Given the description of an element on the screen output the (x, y) to click on. 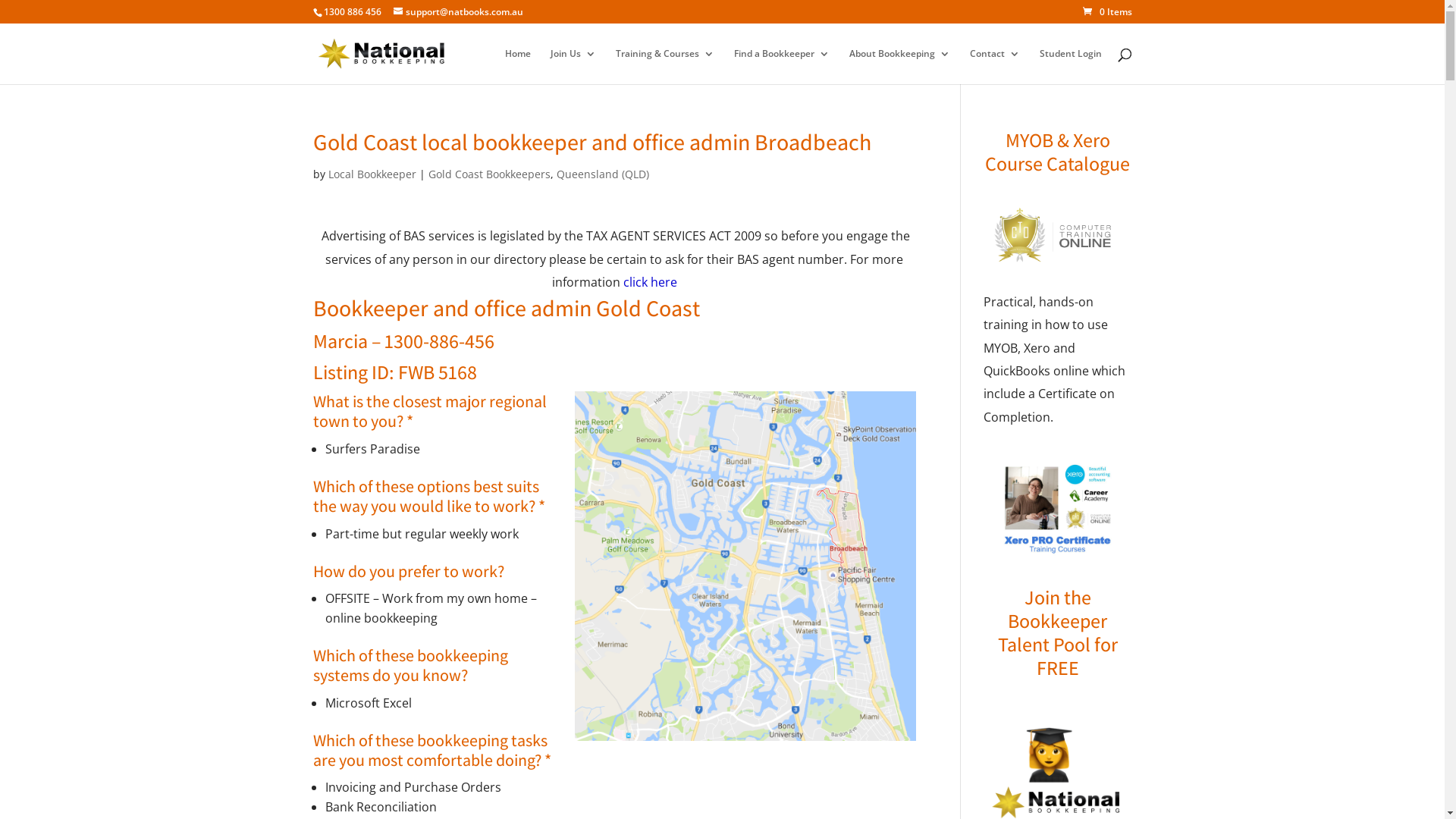
Gold Coast Bookkeepers Element type: text (488, 173)
Local Bookkeeper Element type: text (371, 173)
support@natbooks.com.au Element type: text (457, 11)
About Bookkeeping Element type: text (899, 66)
Training & Courses Element type: text (664, 66)
Contact Element type: text (994, 66)
Find a Bookkeeper Element type: text (781, 66)
Join Us Element type: text (573, 66)
click here Element type: text (650, 281)
Student Login Element type: text (1069, 66)
Queensland (QLD) Element type: text (602, 173)
1300-886-456 Element type: text (438, 340)
Home Element type: text (517, 66)
0 Items Element type: text (1107, 11)
